Given the description of an element on the screen output the (x, y) to click on. 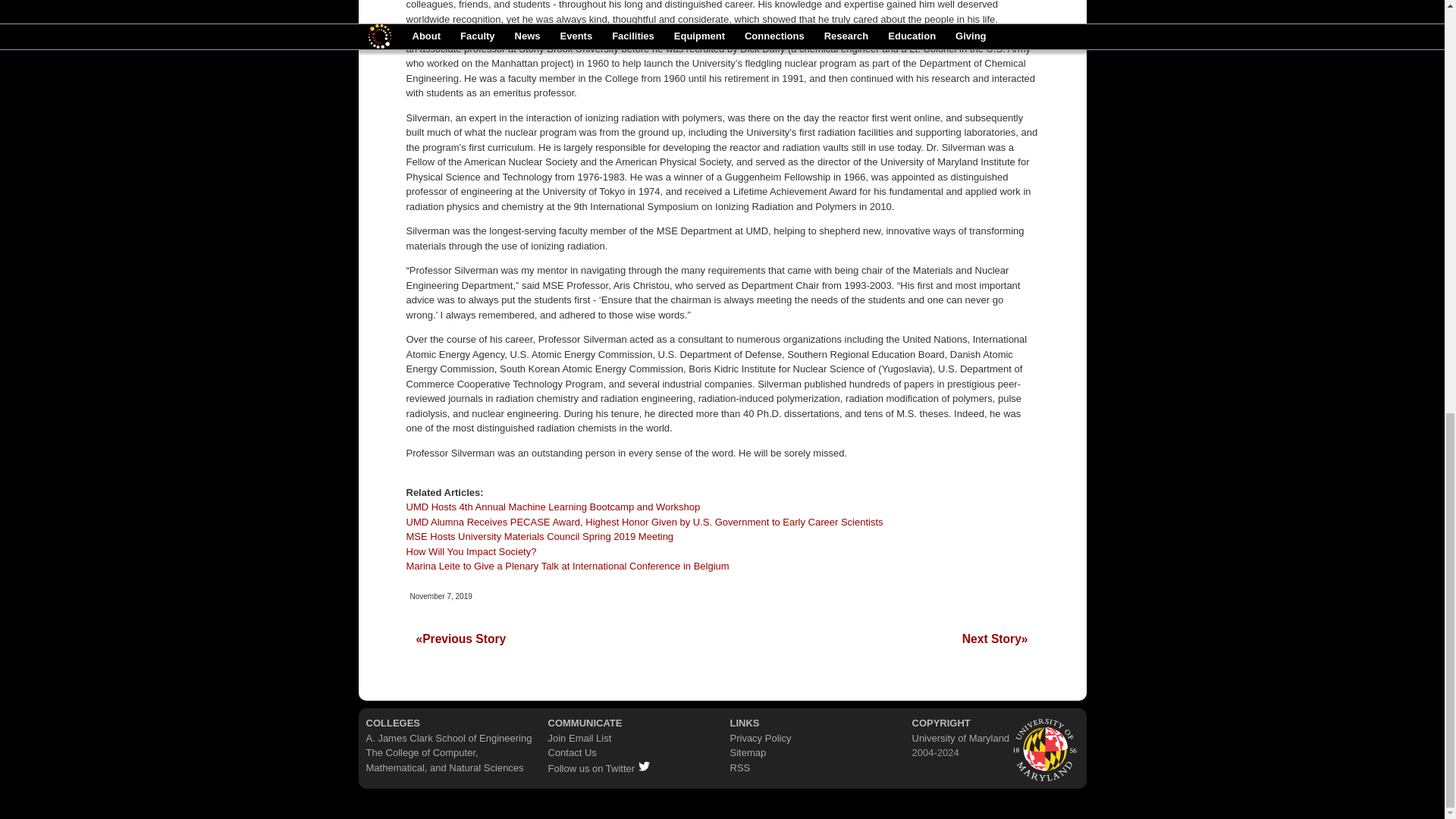
The University of Maryland (1045, 748)
